Given the description of an element on the screen output the (x, y) to click on. 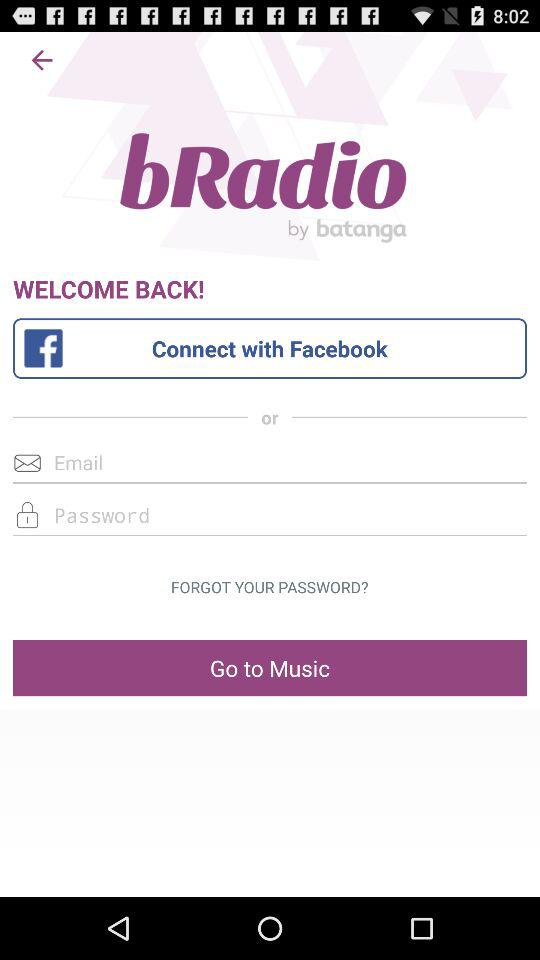
swipe to the connect with facebook button (269, 348)
